Given the description of an element on the screen output the (x, y) to click on. 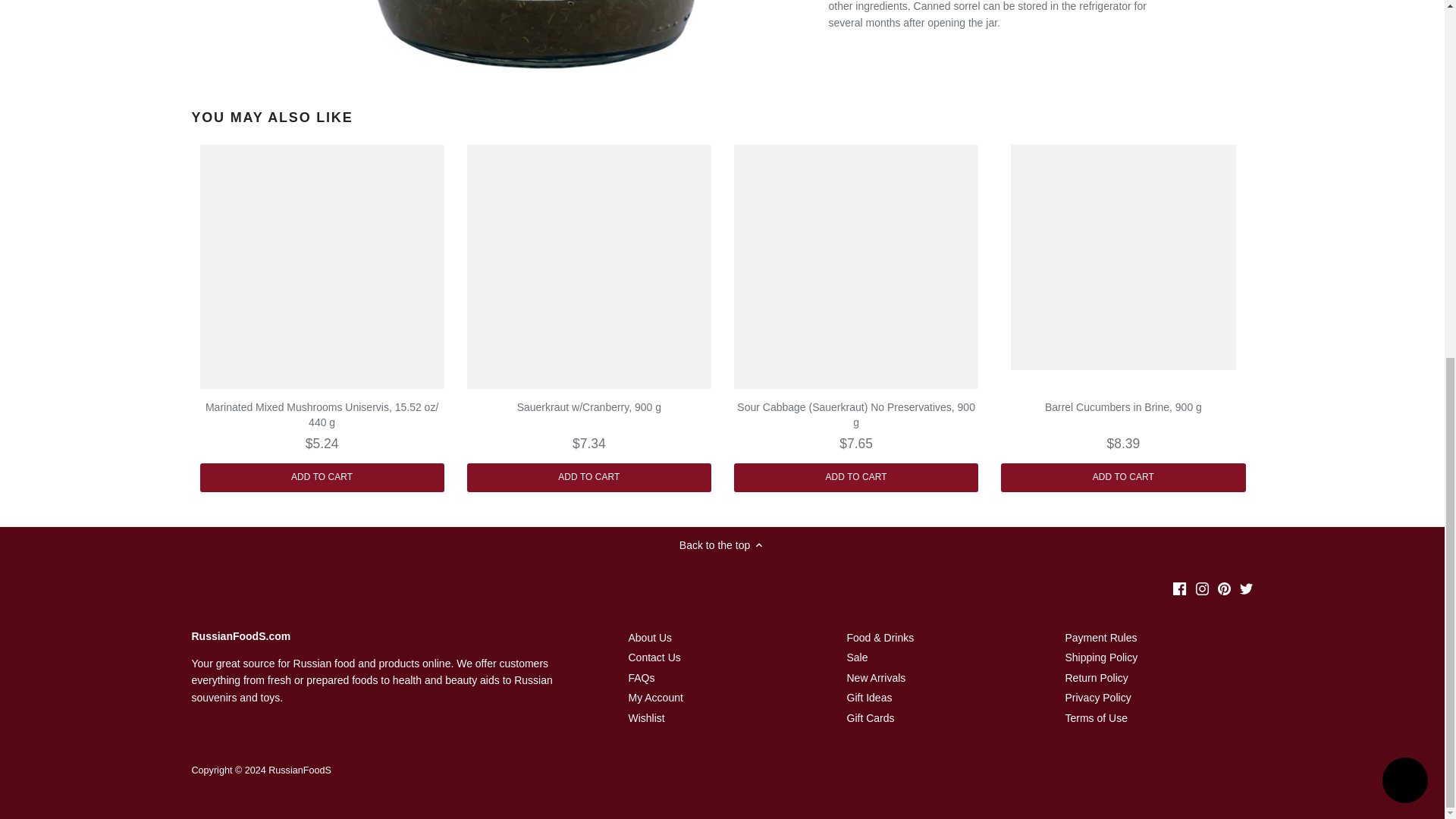
Instagram (1201, 588)
Twitter (1246, 588)
Facebook (1179, 588)
Pinterest (1223, 588)
